Given the description of an element on the screen output the (x, y) to click on. 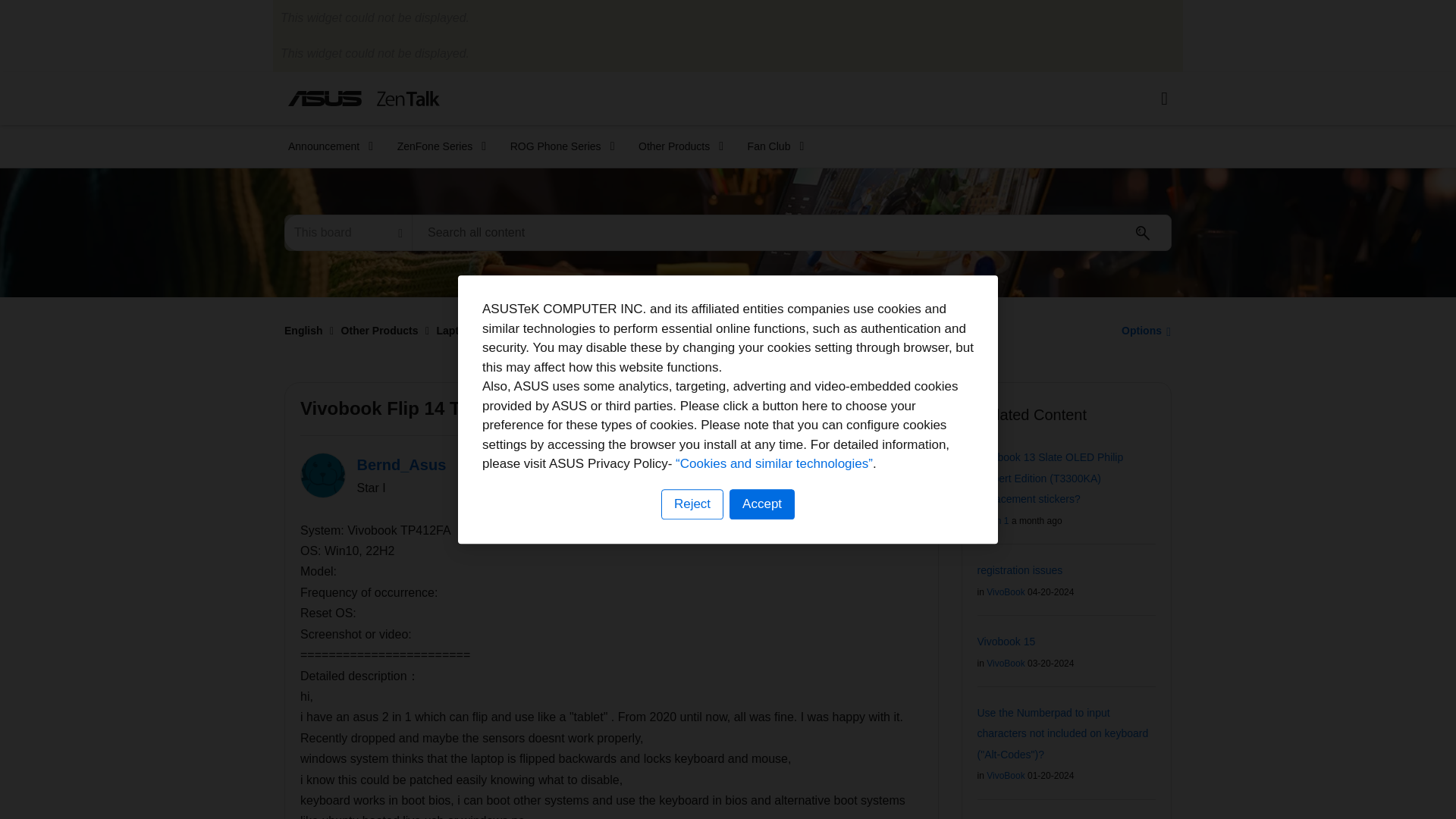
Search (1142, 232)
Show option menu (1142, 330)
Search Granularity (347, 232)
ZenFone Series (436, 146)
Announcement (325, 146)
Search (1142, 232)
ASUS - ZenTalk (363, 97)
Search (792, 232)
Other Products (676, 146)
ROG Phone Series (557, 146)
